Given the description of an element on the screen output the (x, y) to click on. 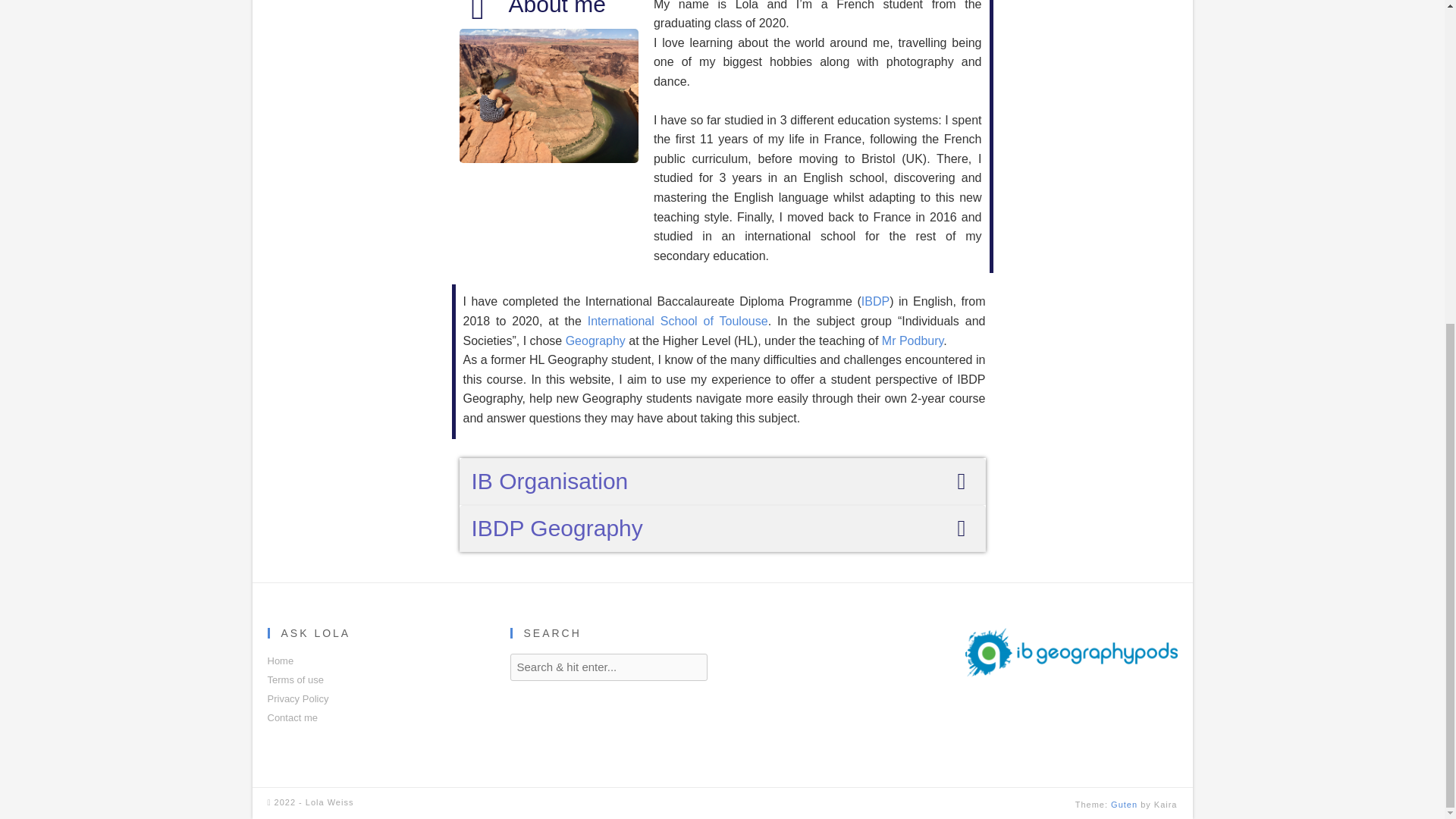
International School of Toulouse (678, 320)
Geography (596, 340)
IBDP (875, 300)
